Given the description of an element on the screen output the (x, y) to click on. 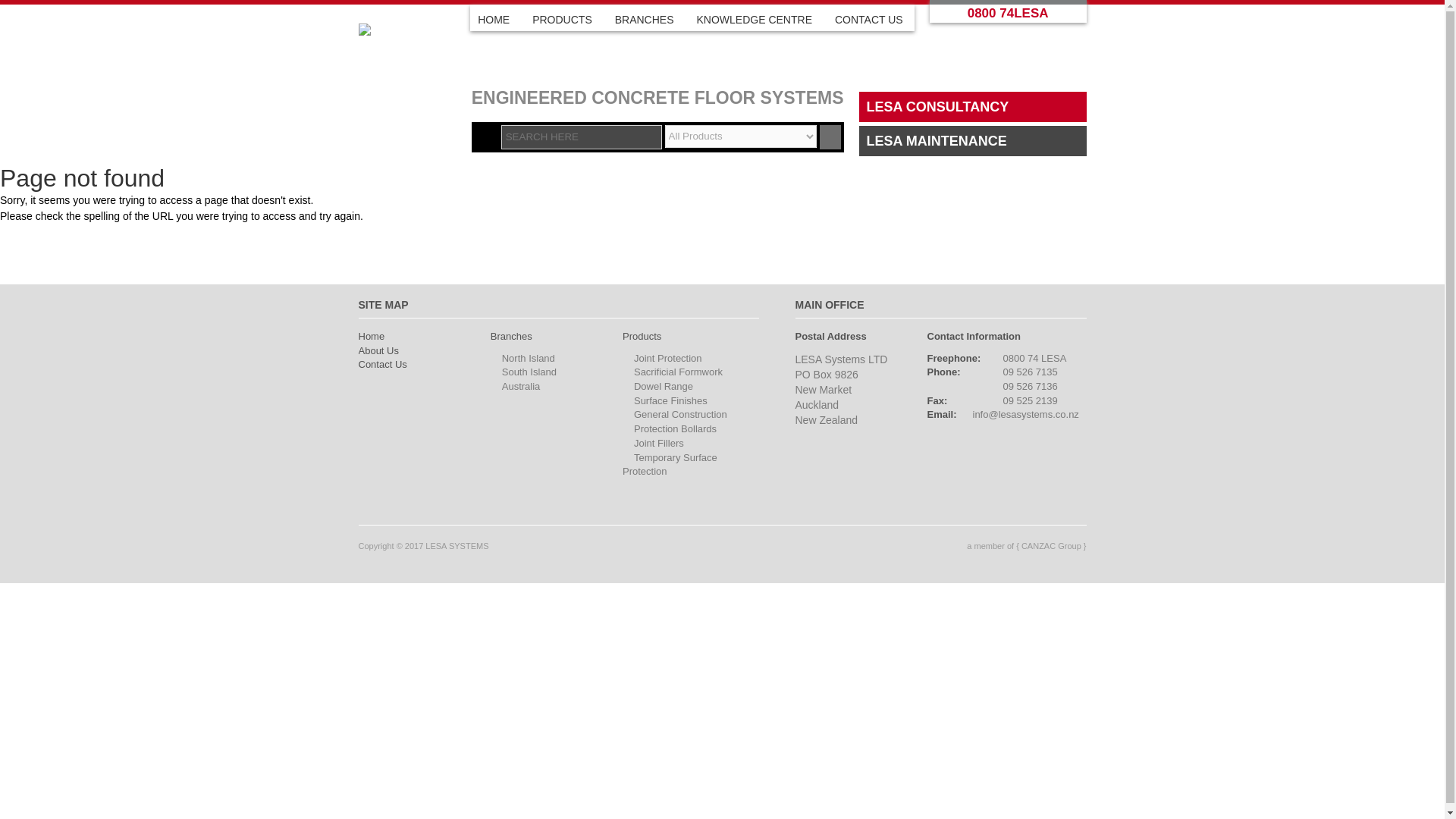
HOME (493, 19)
PRODUCTS (561, 19)
